Given the description of an element on the screen output the (x, y) to click on. 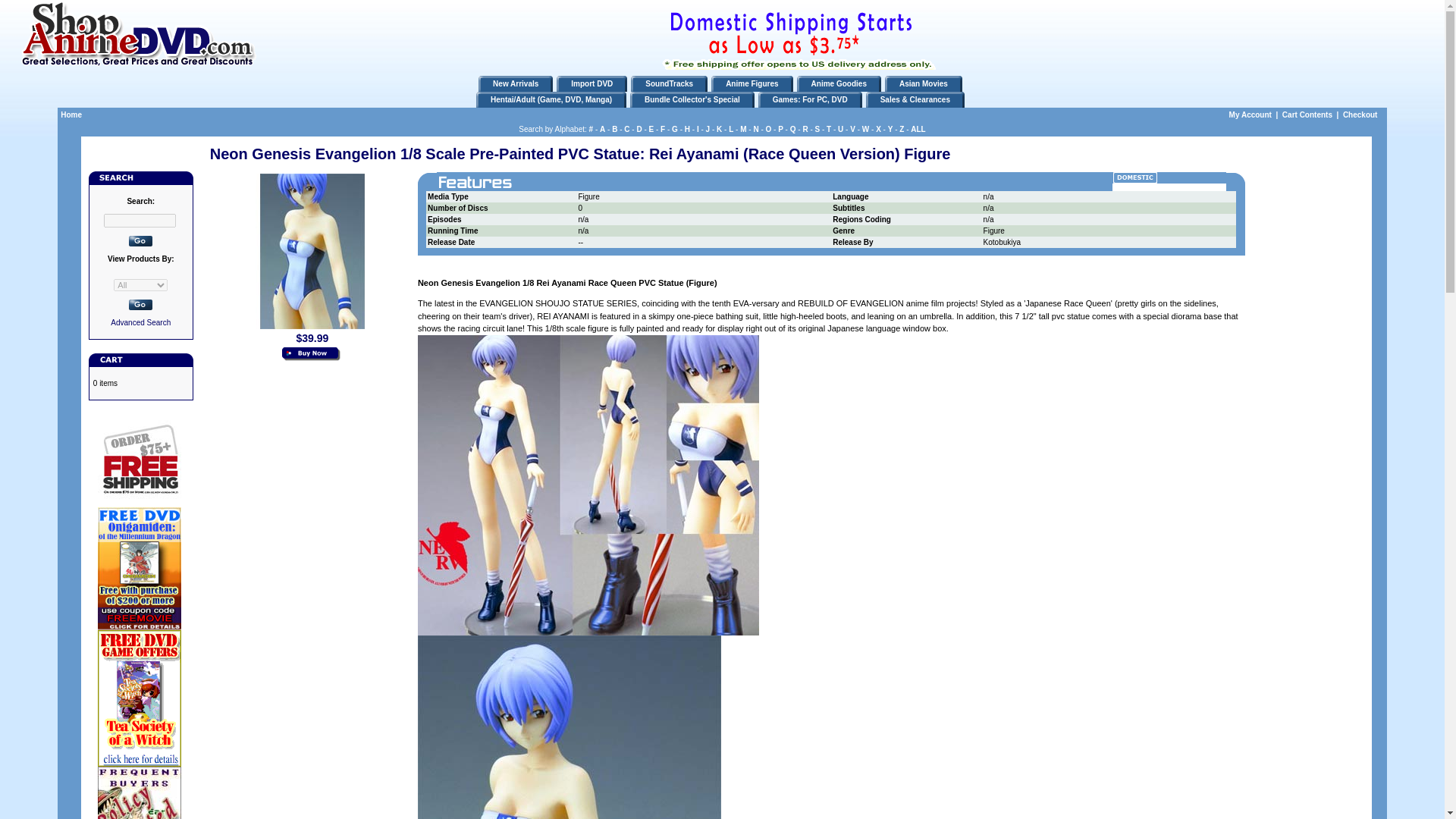
Cart Contents (1307, 114)
My Account (1249, 114)
 View Products  (140, 304)
Checkout (1359, 114)
New Arrivals (515, 83)
 Domestic  (1134, 177)
 In Cart  (312, 355)
Anime Figures (751, 83)
Asian Movies (923, 83)
Import DVD (591, 83)
